Given the description of an element on the screen output the (x, y) to click on. 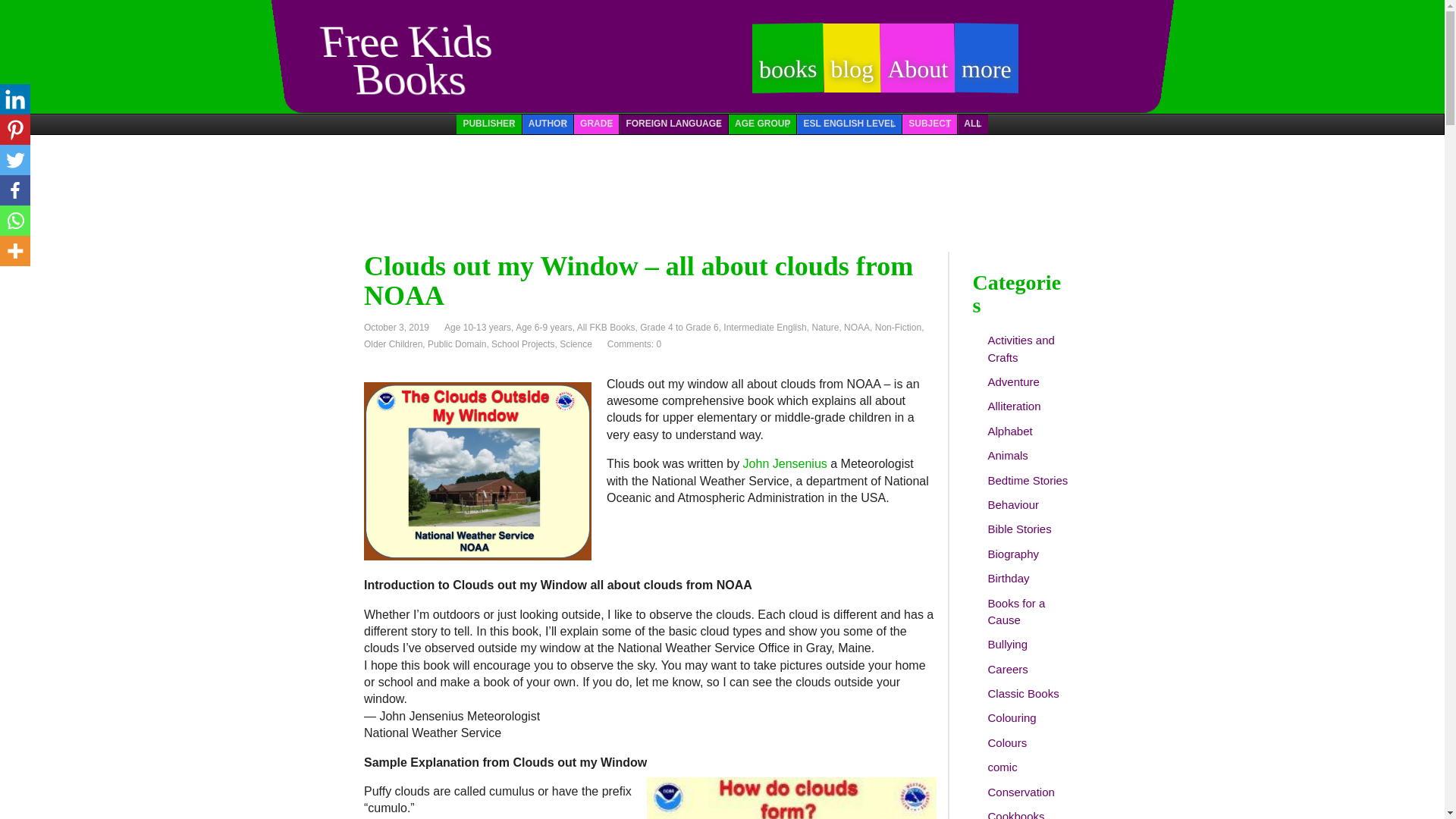
more (985, 68)
More (15, 250)
AUTHOR (547, 124)
About (916, 68)
Free Kids Books (402, 65)
PUBLISHER (489, 124)
books (787, 68)
Twitter (15, 159)
blog (851, 68)
Pinterest (15, 129)
